Given the description of an element on the screen output the (x, y) to click on. 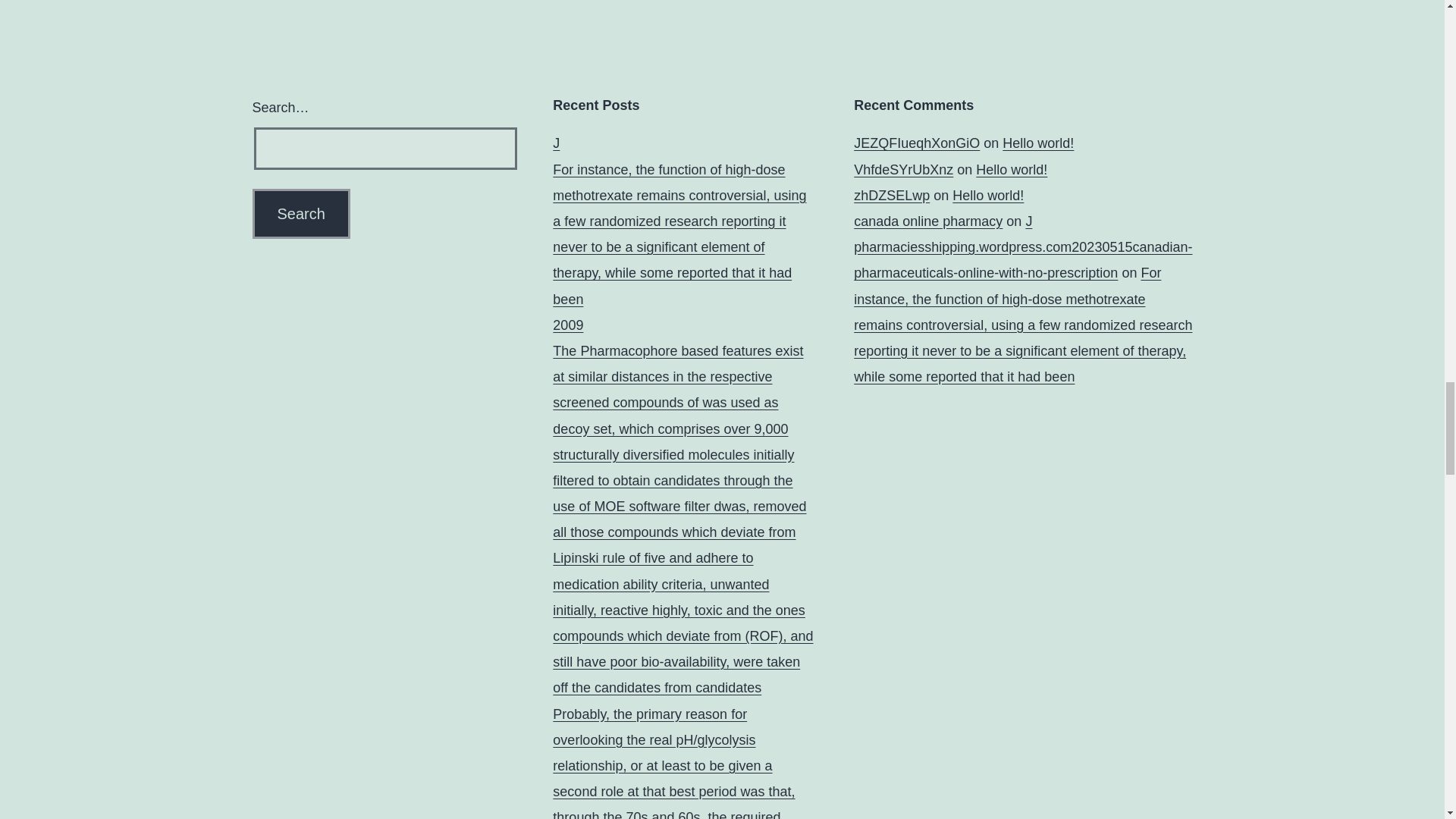
Hello world! (1038, 142)
VhfdeSYrUbXnz (903, 169)
Hello world! (1010, 169)
zhDZSELwp (891, 195)
Search (300, 214)
Search (300, 214)
J (556, 142)
canada online pharmacy (928, 221)
2009 (568, 324)
Search (300, 214)
J (1028, 221)
JEZQFIueqhXonGiO (916, 142)
